Given the description of an element on the screen output the (x, y) to click on. 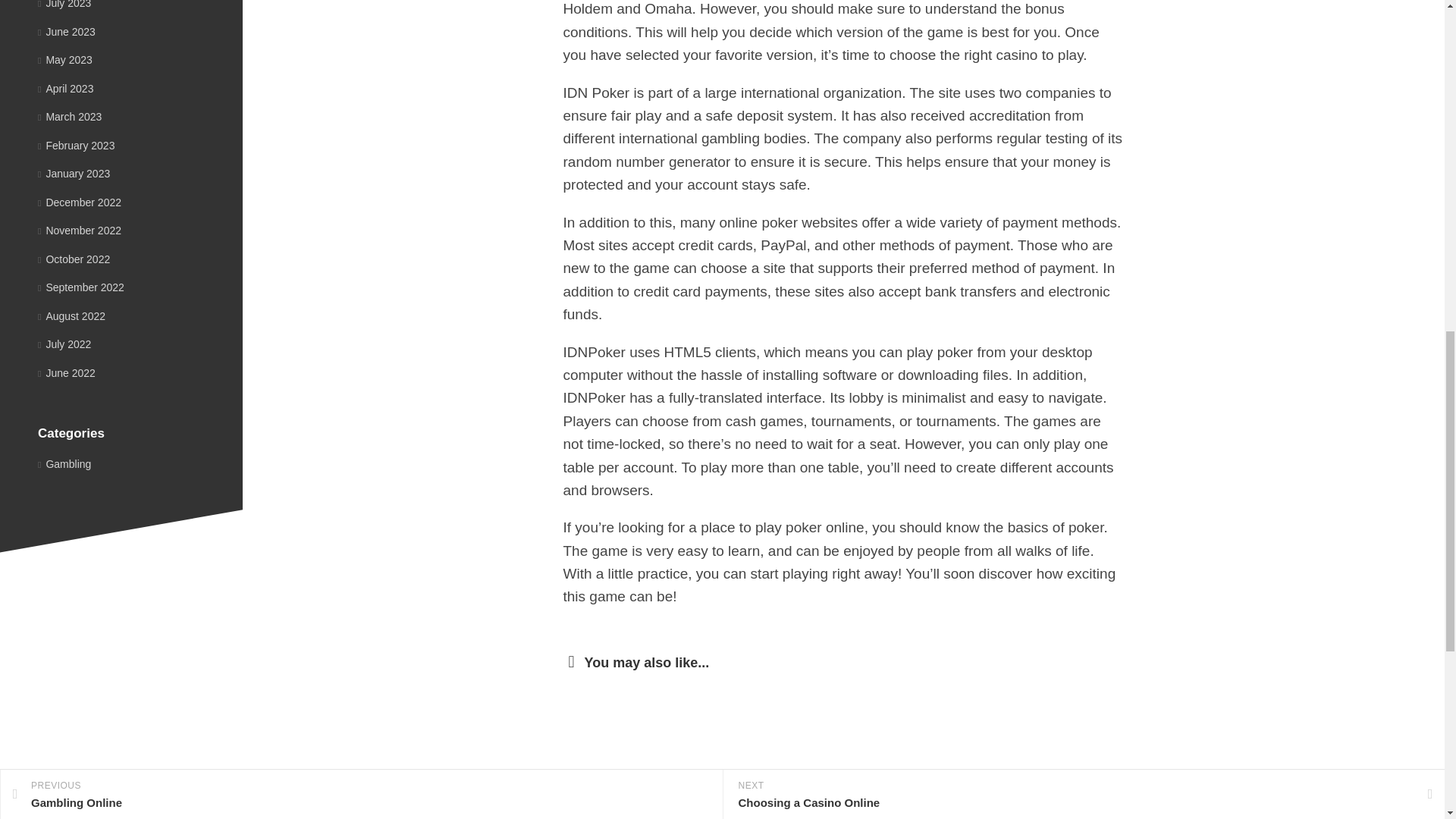
June 2023 (66, 31)
February 2023 (76, 145)
April 2023 (65, 87)
November 2022 (78, 230)
May 2023 (65, 60)
March 2023 (69, 116)
October 2022 (73, 259)
Important Things to Remember When Playing Slot (822, 812)
September 2022 (80, 287)
January 2023 (73, 173)
December 2022 (78, 201)
July 2023 (63, 4)
What is the Lottery? (994, 812)
